Given the description of an element on the screen output the (x, y) to click on. 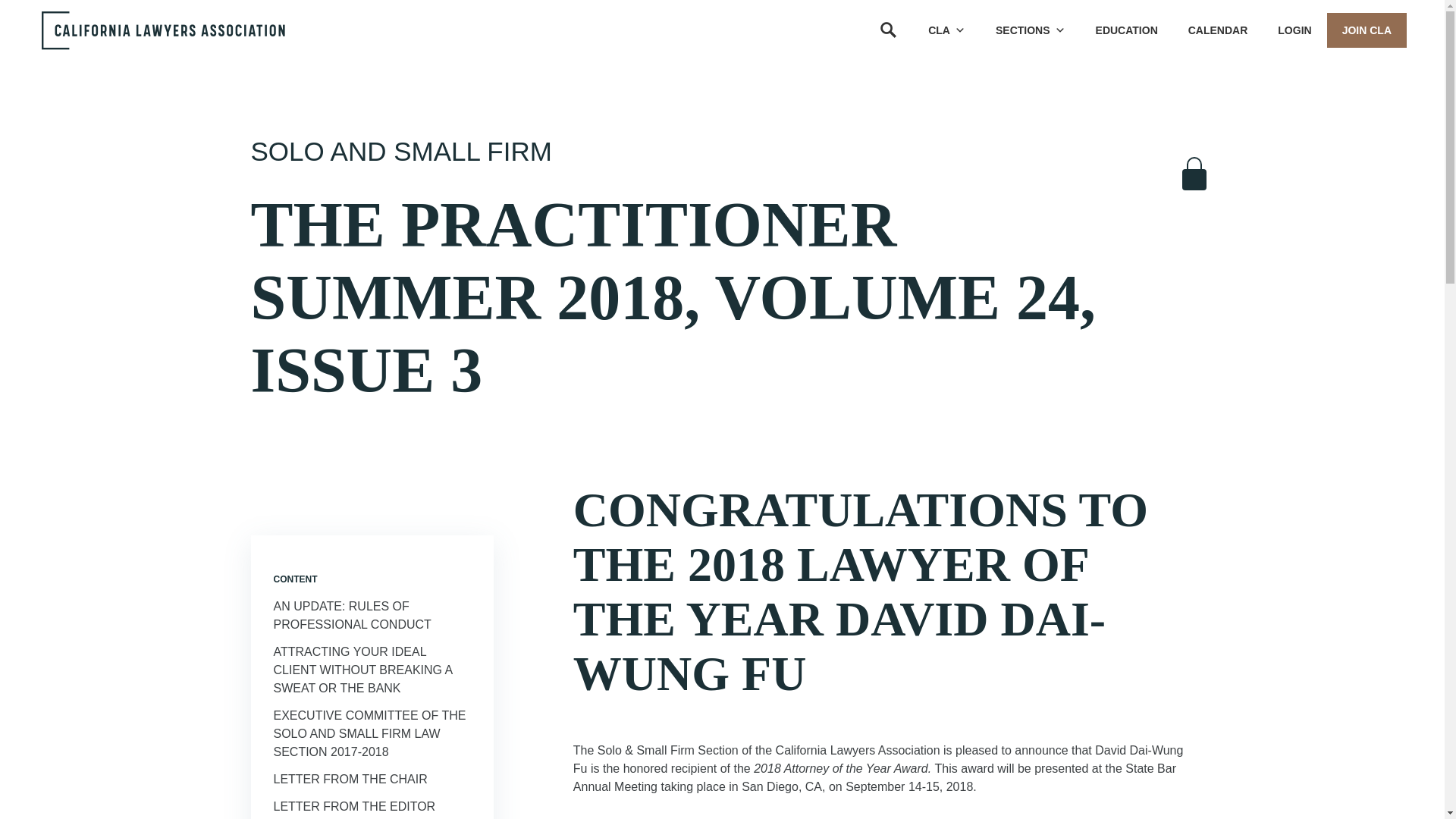
Letter From the Chair (349, 779)
CLA (945, 30)
SECTIONS (1029, 30)
An Update: Rules of Professional Conduct (351, 614)
Letter From the Editor (354, 806)
